Given the description of an element on the screen output the (x, y) to click on. 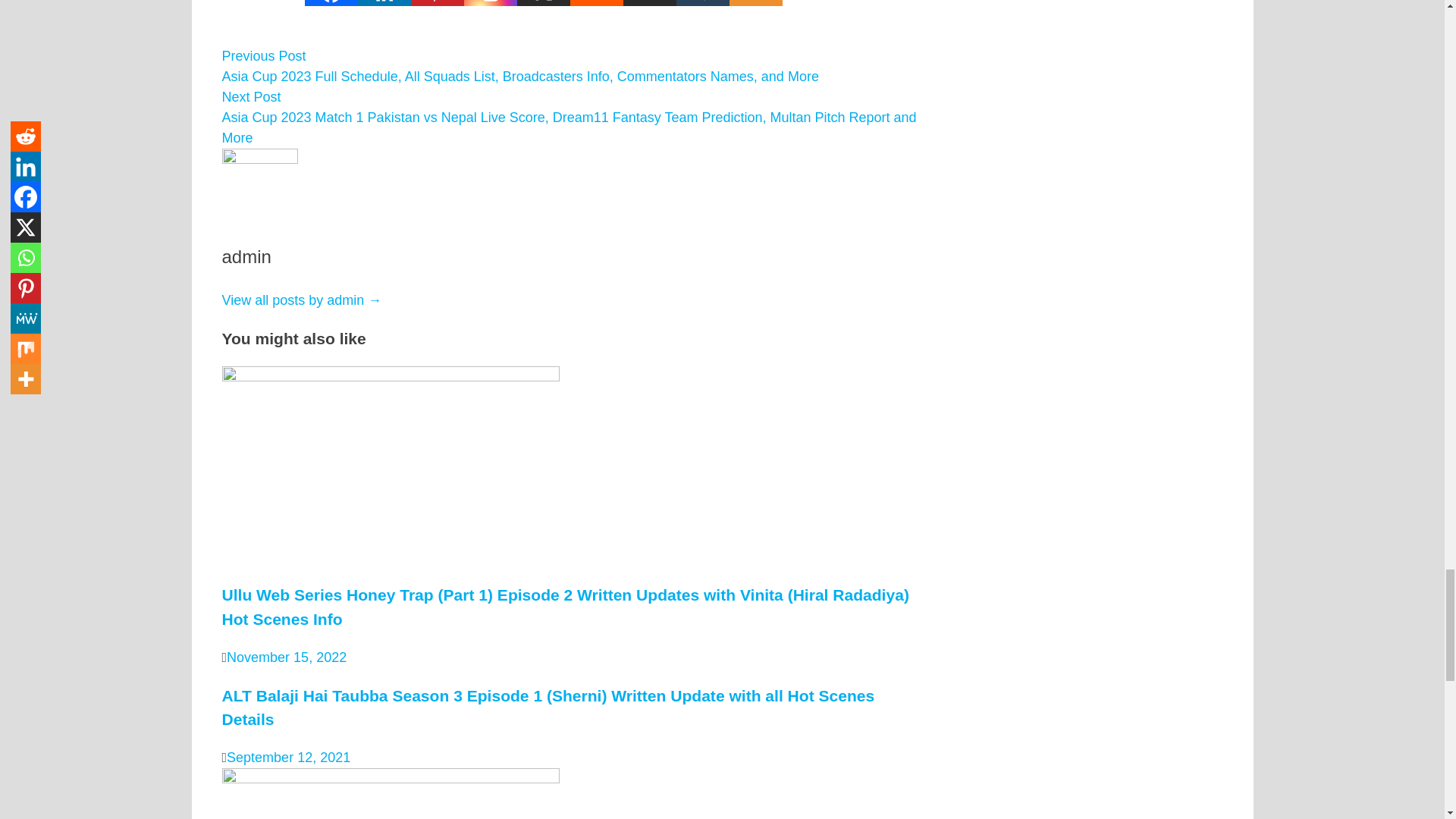
Linkedin (384, 2)
Pinterest (437, 2)
X (543, 2)
MySpace (650, 2)
Reddit (596, 2)
Facebook (331, 2)
More (756, 2)
Instagram (490, 2)
Tumblr (703, 2)
